Given the description of an element on the screen output the (x, y) to click on. 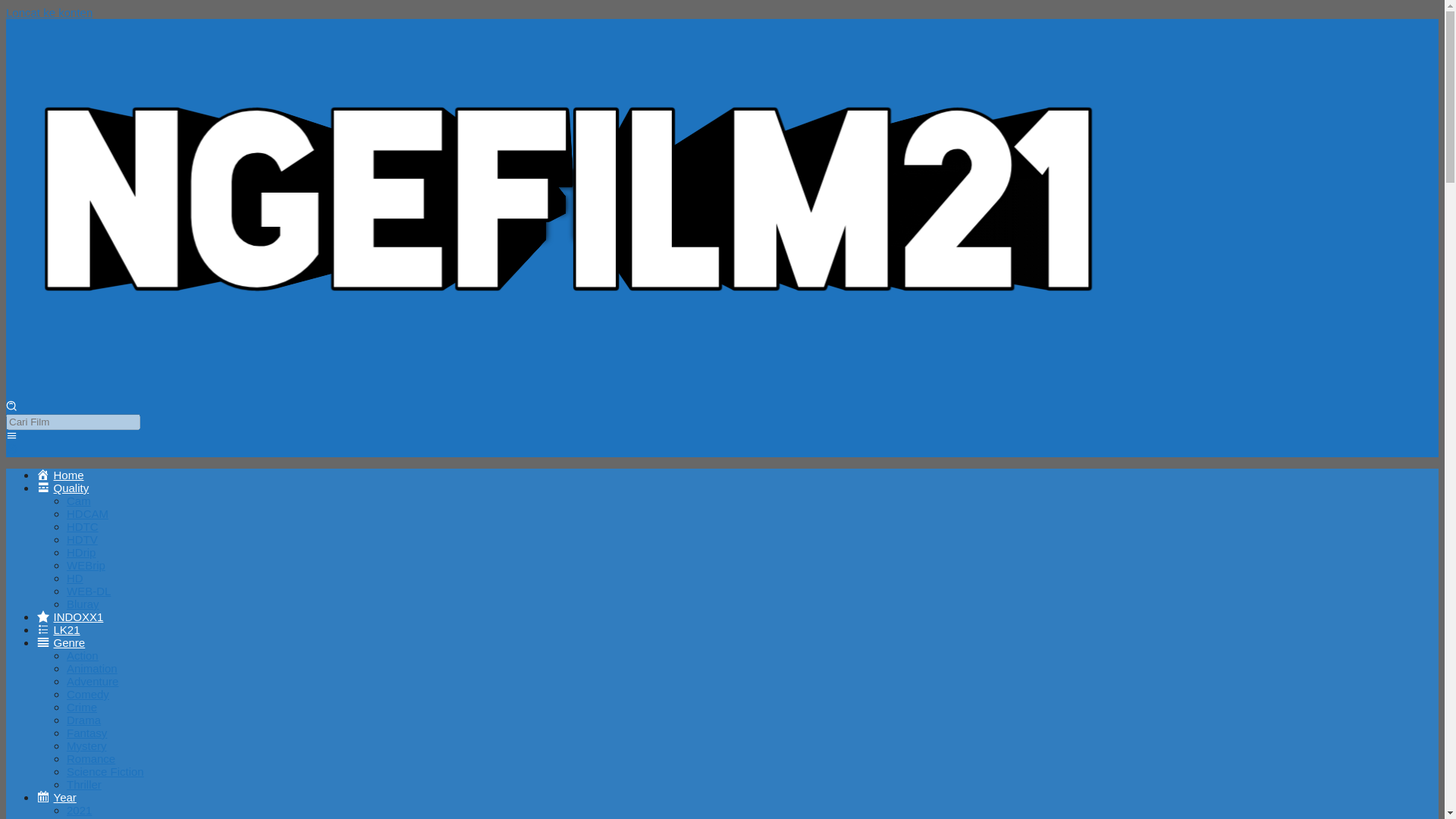
Genre (60, 642)
HDCAM (86, 513)
Cam (78, 500)
WEBrip (85, 564)
HD (62, 487)
Mystery (86, 745)
Romance (90, 758)
HD (74, 577)
INDOXX1 (69, 616)
Home (60, 474)
